Given the description of an element on the screen output the (x, y) to click on. 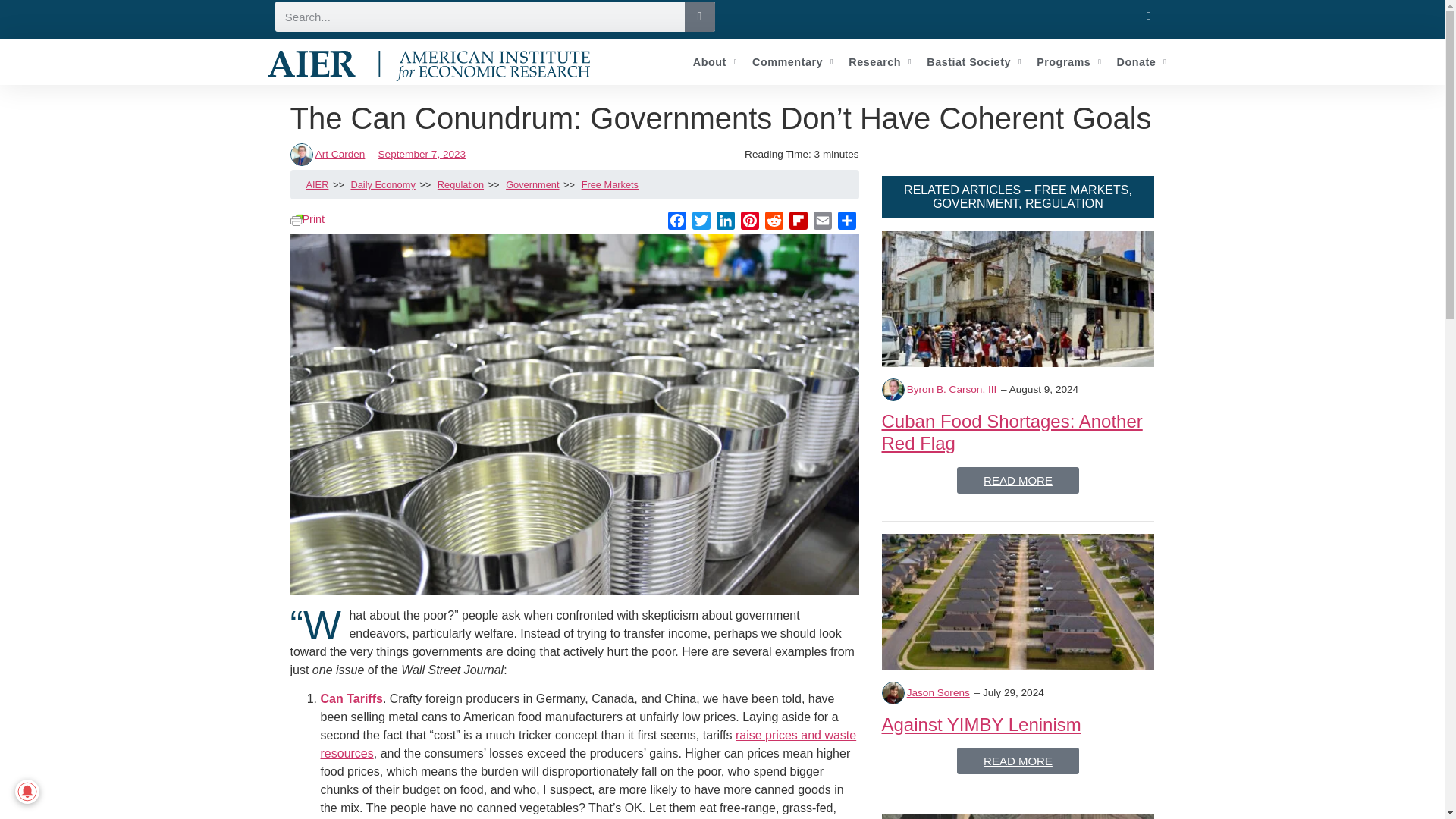
Pinterest (748, 223)
Email (821, 223)
Reddit (773, 223)
Programs (1068, 62)
Commentary (792, 62)
Facebook (675, 223)
Flipboard (797, 223)
About (714, 62)
Twitter (700, 223)
LinkedIn (724, 223)
